Given the description of an element on the screen output the (x, y) to click on. 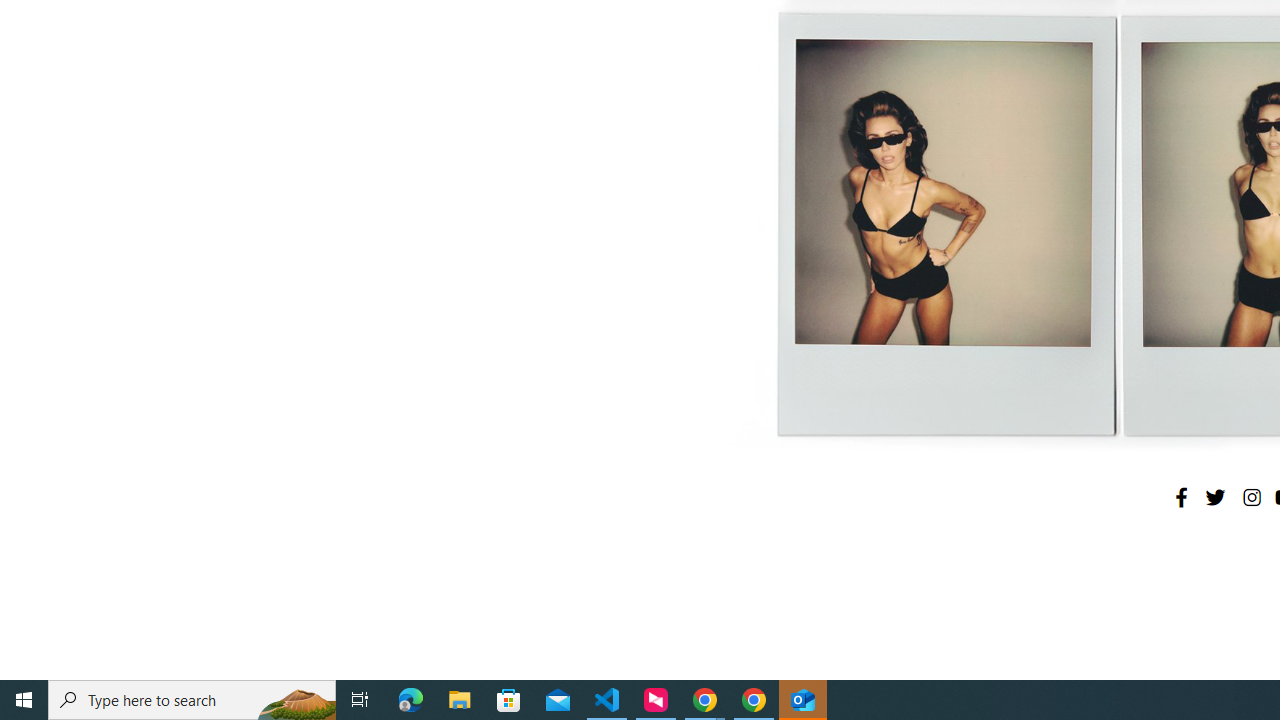
Facebook (1181, 497)
Instagram (1251, 497)
